Given the description of an element on the screen output the (x, y) to click on. 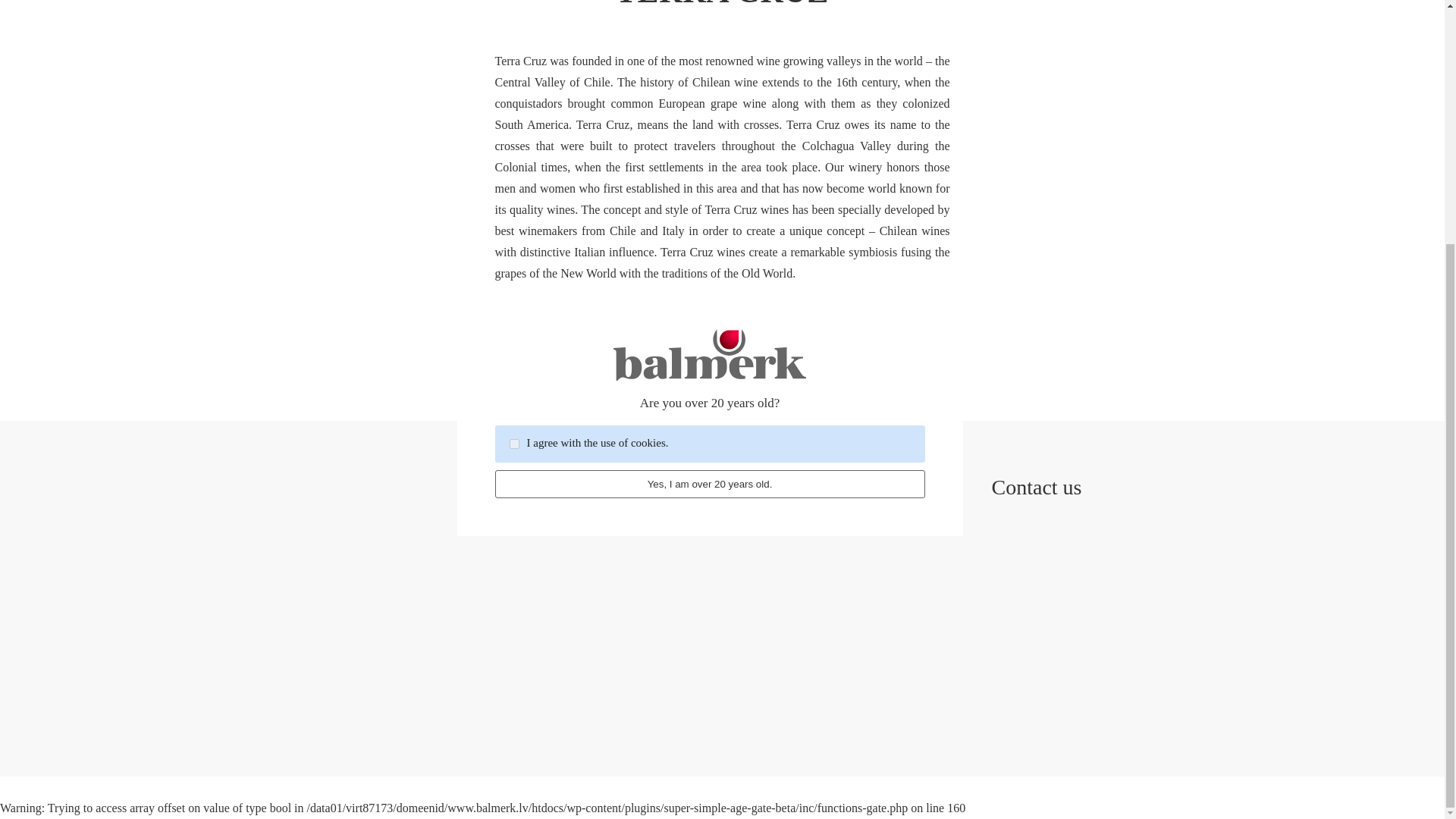
Our brands (852, 487)
Yes, I am over 20 years old. (709, 145)
TERRA CRUZ (721, 6)
Contact us (1115, 487)
1 (514, 105)
Balmerk (591, 487)
Yes, I am over 20 years old. (709, 145)
